Given the description of an element on the screen output the (x, y) to click on. 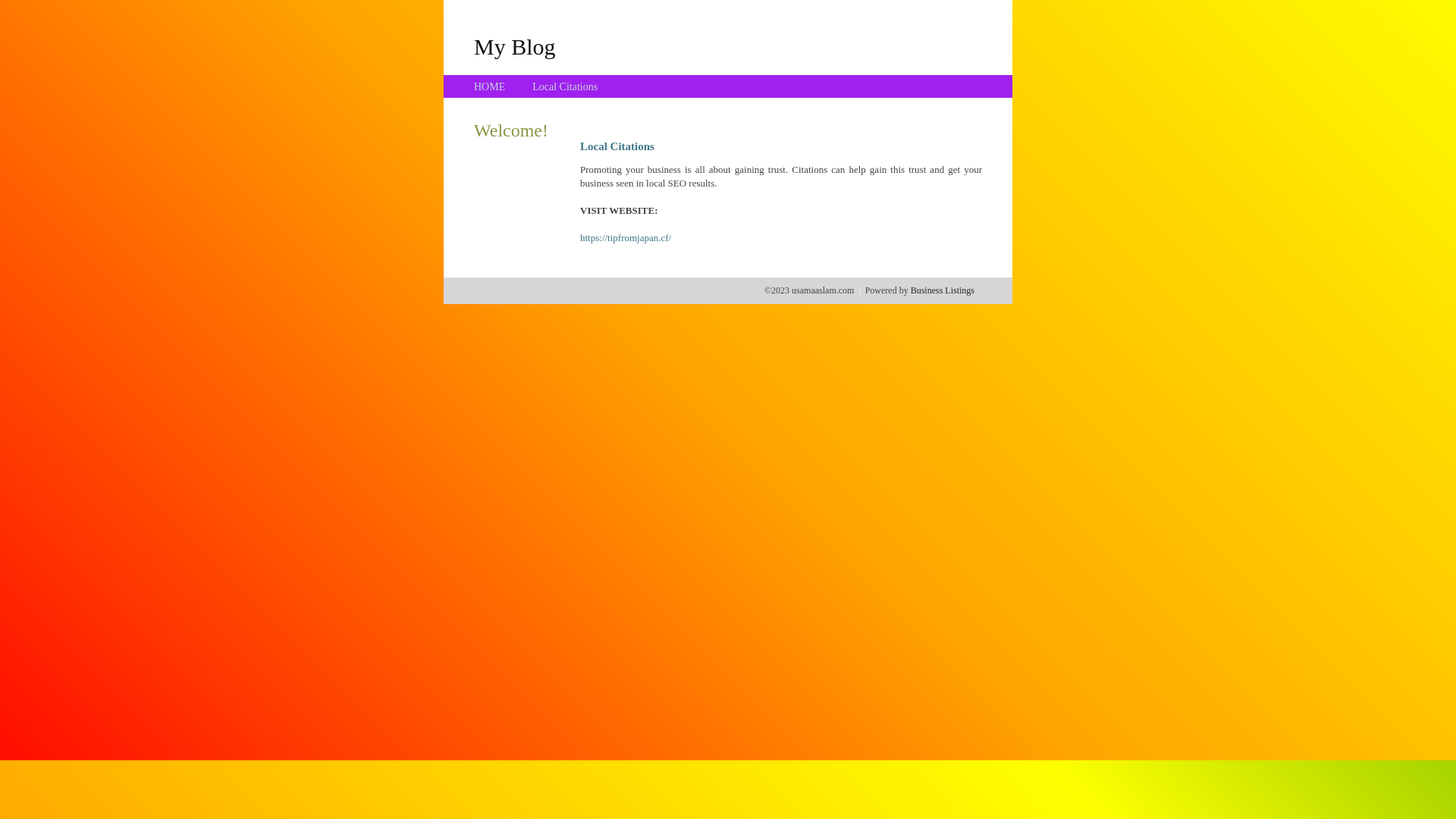
HOME Element type: text (489, 86)
Local Citations Element type: text (564, 86)
My Blog Element type: text (514, 46)
Business Listings Element type: text (942, 290)
https://tipfromjapan.cf/ Element type: text (625, 237)
